Given the description of an element on the screen output the (x, y) to click on. 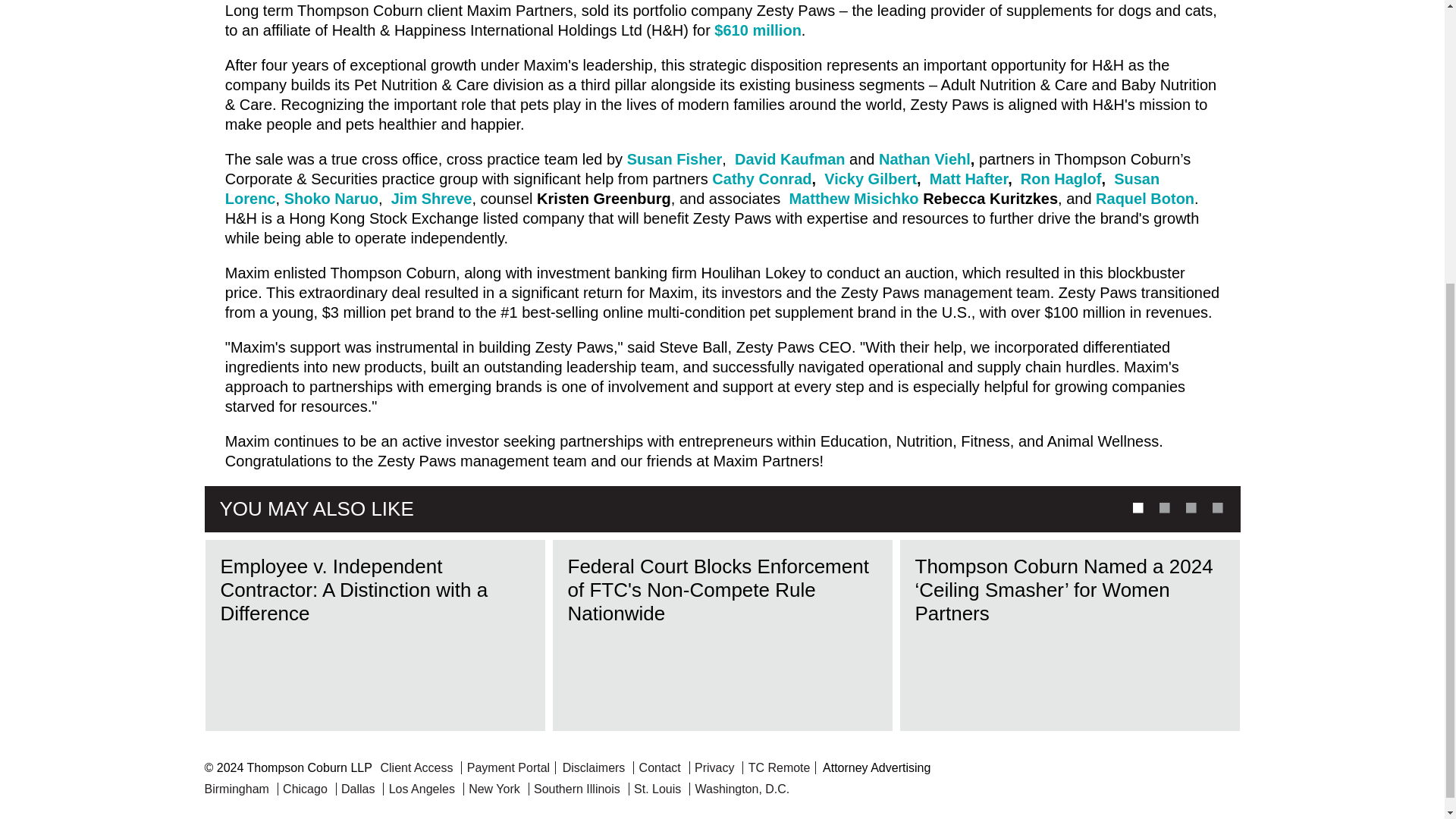
 Nathan Viehl (922, 158)
David Kaufman (790, 158)
Susan Fisher (674, 158)
Vicky Gilbert (870, 178)
Ron Haglof (1061, 178)
Matt Hafter (968, 178)
Susan Lorenc (691, 188)
Cathy Conrad (760, 178)
